Given the description of an element on the screen output the (x, y) to click on. 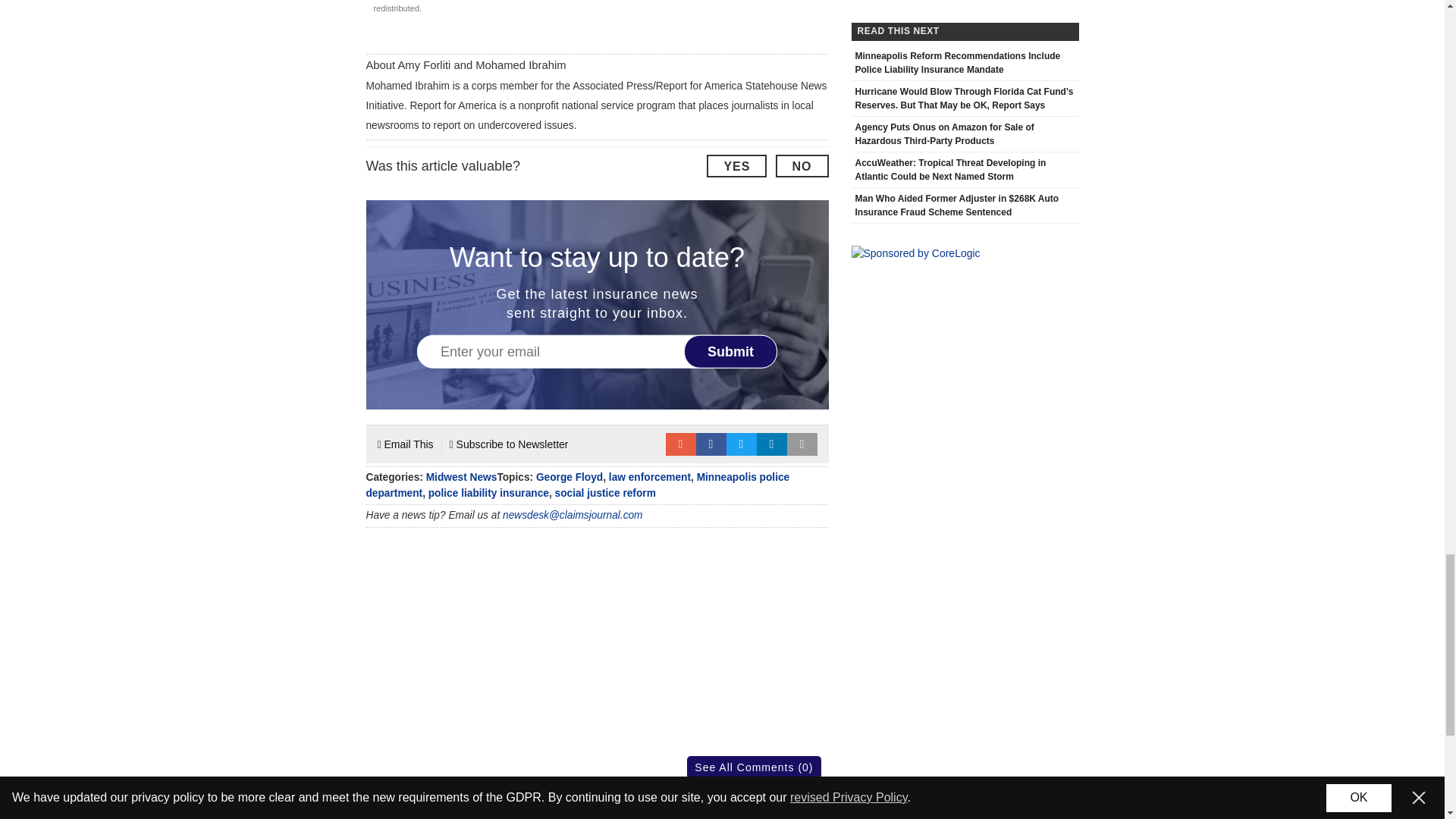
Print Article (801, 444)
Share on Twitter. (741, 444)
Email to a friend (680, 444)
Submit (730, 350)
YES (736, 165)
Share on LinkedIn. (772, 444)
Post to Facebook. (710, 444)
NO (801, 165)
